Given the description of an element on the screen output the (x, y) to click on. 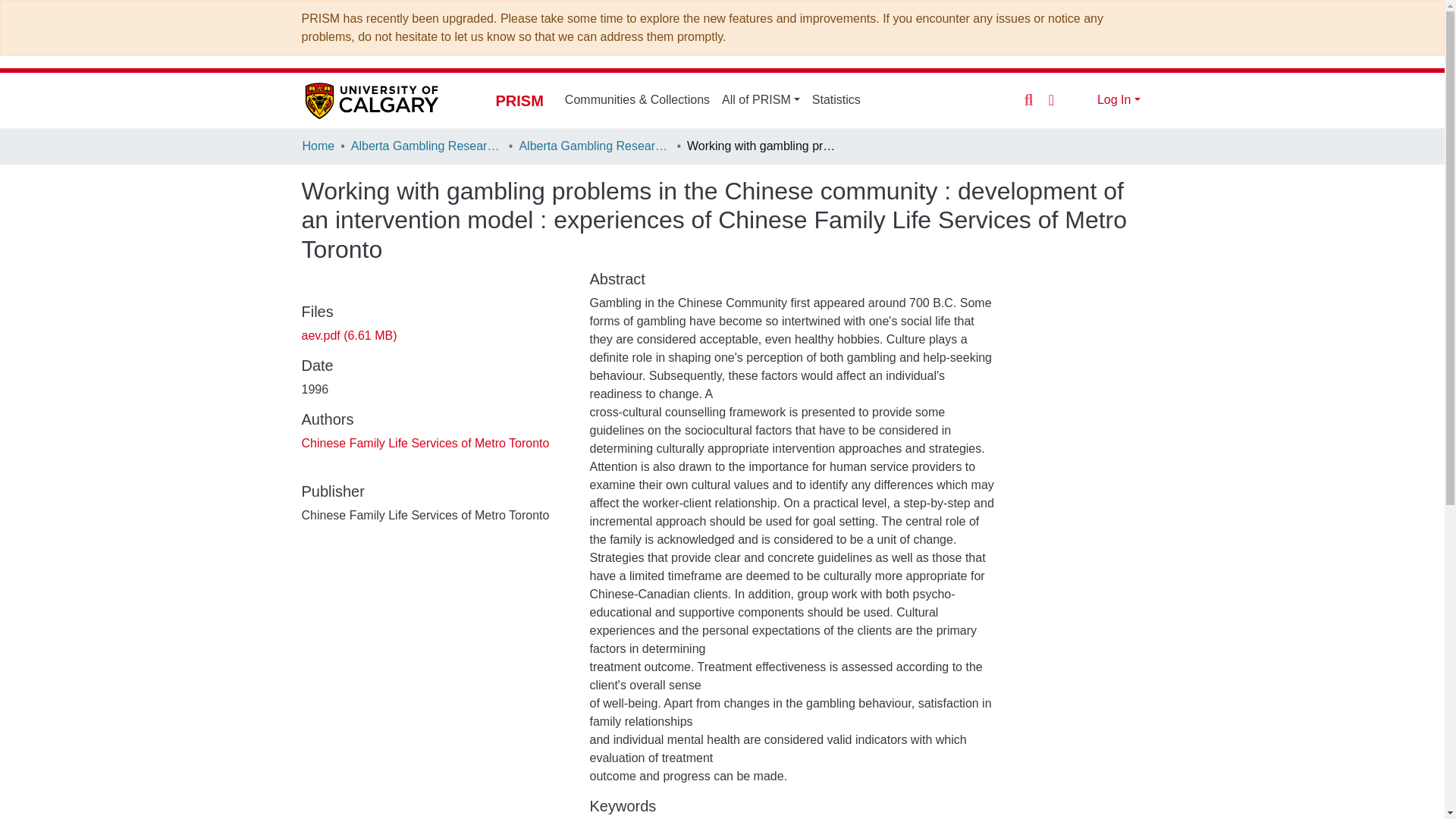
Home (317, 146)
PRISM (519, 100)
Log In (1118, 99)
Statistics (836, 100)
Language switch (1051, 99)
Statistics (836, 100)
Alberta Gambling Research Institute (593, 146)
Alberta Gambling Research Institute (426, 146)
Search (1028, 100)
Chinese Family Life Services of Metro Toronto (425, 442)
All of PRISM (761, 100)
